Given the description of an element on the screen output the (x, y) to click on. 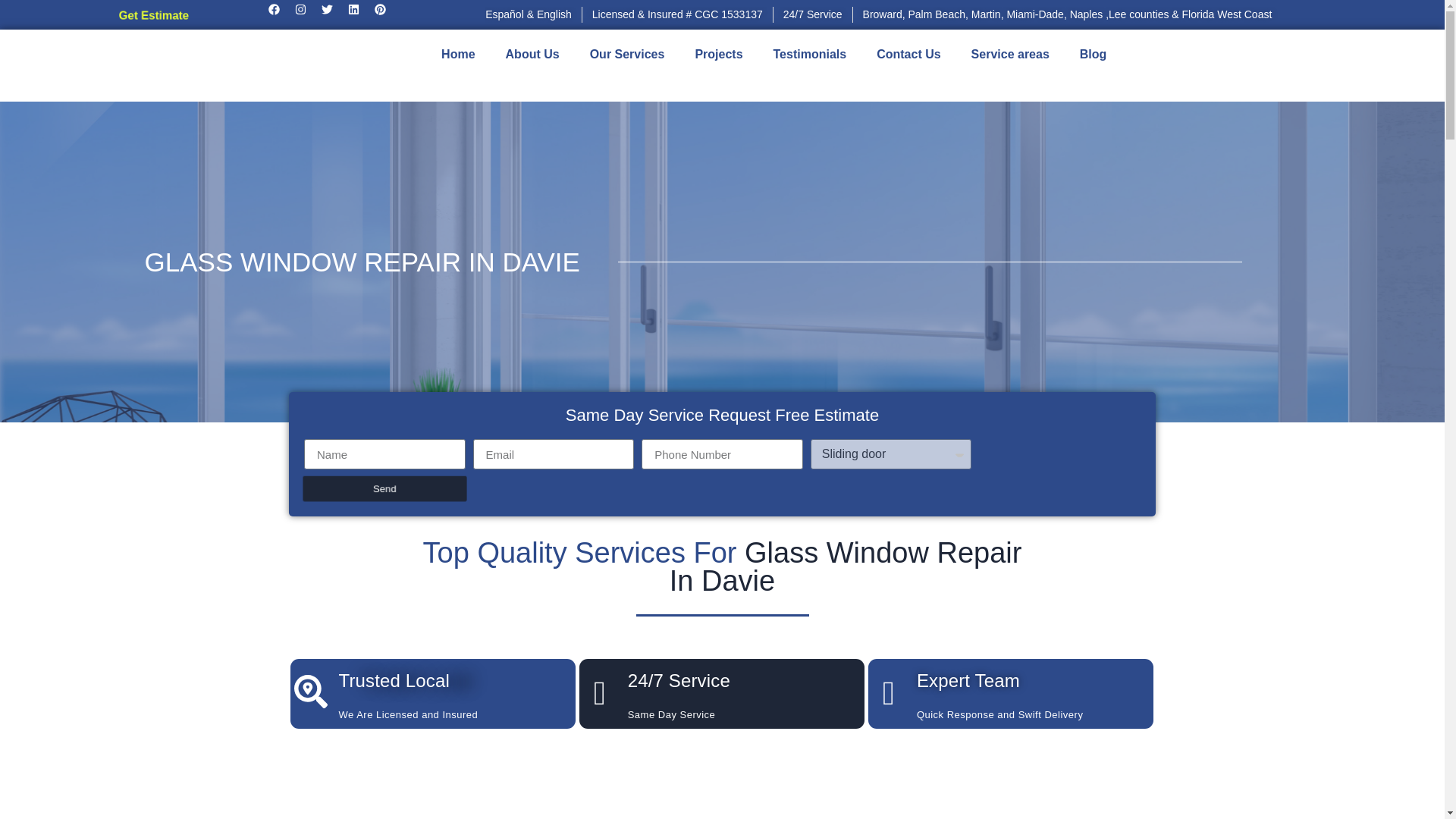
Home (457, 54)
Davie, FL, USA (721, 781)
Our Services (627, 54)
About Us (532, 54)
Get Estimate (152, 14)
